Given the description of an element on the screen output the (x, y) to click on. 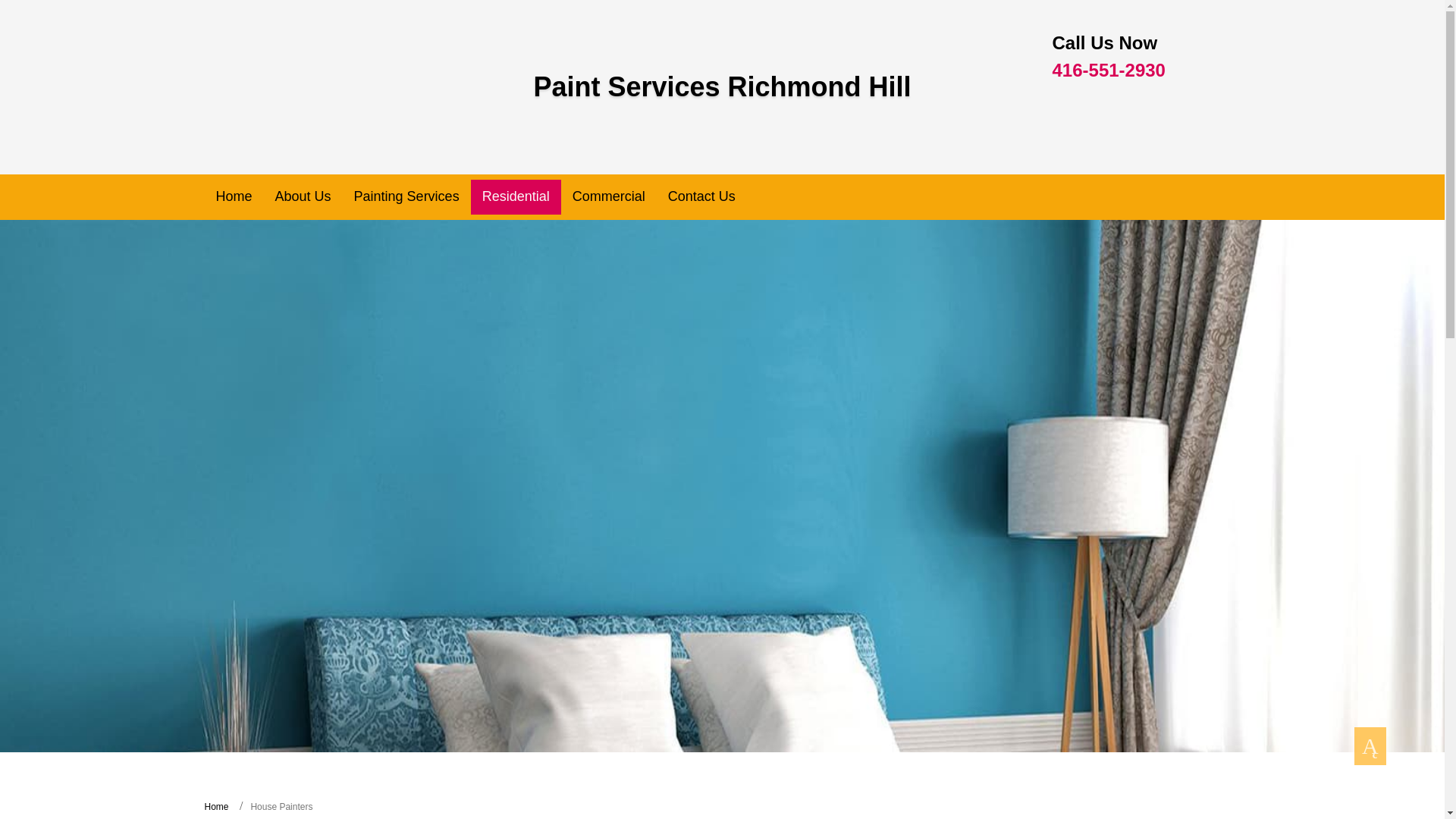
Home (216, 806)
Home (234, 196)
About Us (302, 196)
416-551-2930 (1109, 70)
Contact Us (701, 196)
Commercial (608, 196)
Painting Services (406, 196)
Residential (515, 196)
